Given the description of an element on the screen output the (x, y) to click on. 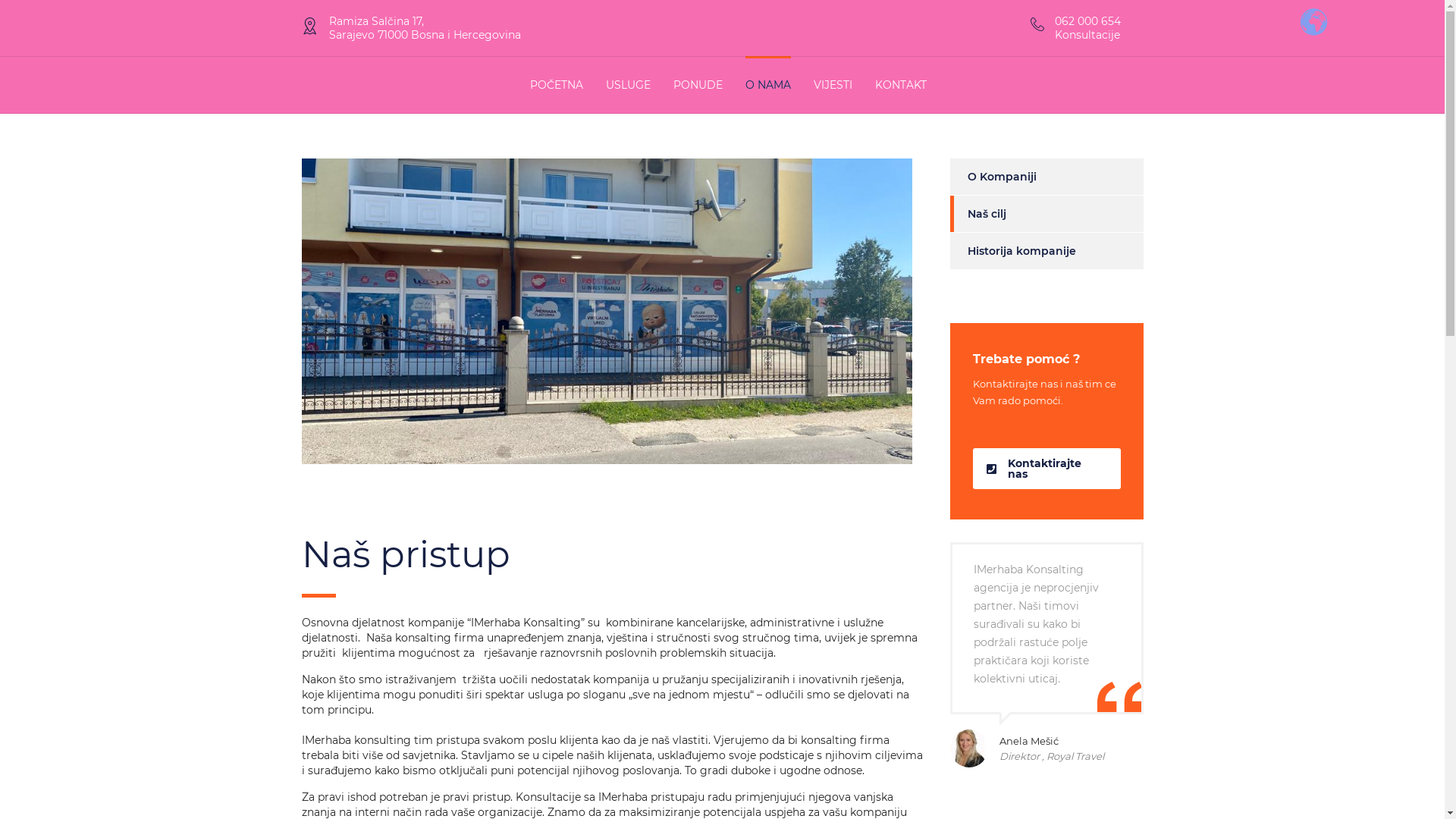
VIJESTI Element type: text (831, 84)
PONUDE Element type: text (697, 84)
Historija kompanije Element type: text (1012, 250)
Kontaktirajte nas Element type: text (1046, 468)
KONTAKT Element type: text (900, 84)
USLUGE Element type: text (627, 84)
O NAMA Element type: text (767, 84)
O Kompaniji Element type: text (992, 176)
